Given the description of an element on the screen output the (x, y) to click on. 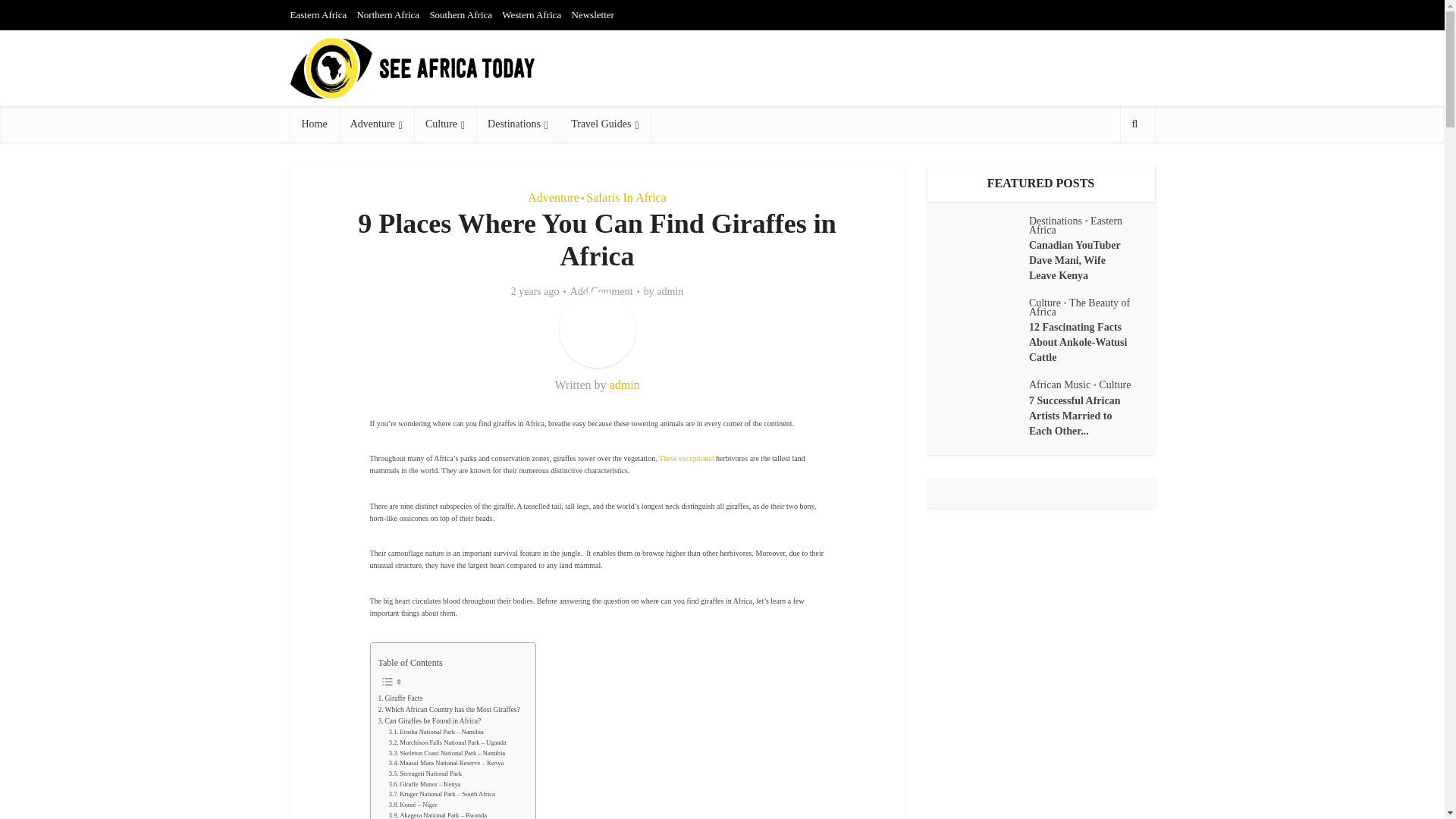
Eastern Africa (317, 14)
Destinations (517, 124)
Adventure (376, 124)
Serengeti National Park (424, 774)
These exceptional (686, 458)
Adventure (553, 196)
Which African Country has the Most Giraffes? (448, 709)
Can Giraffes be Found in Africa? (428, 721)
Newsletter (593, 14)
Which African Country has the Most Giraffes? (448, 709)
Giraffe Facts (399, 698)
Safaris In Africa (626, 196)
Southern Africa (460, 14)
Can Giraffes be Found in Africa? (428, 721)
admin (625, 384)
